Given the description of an element on the screen output the (x, y) to click on. 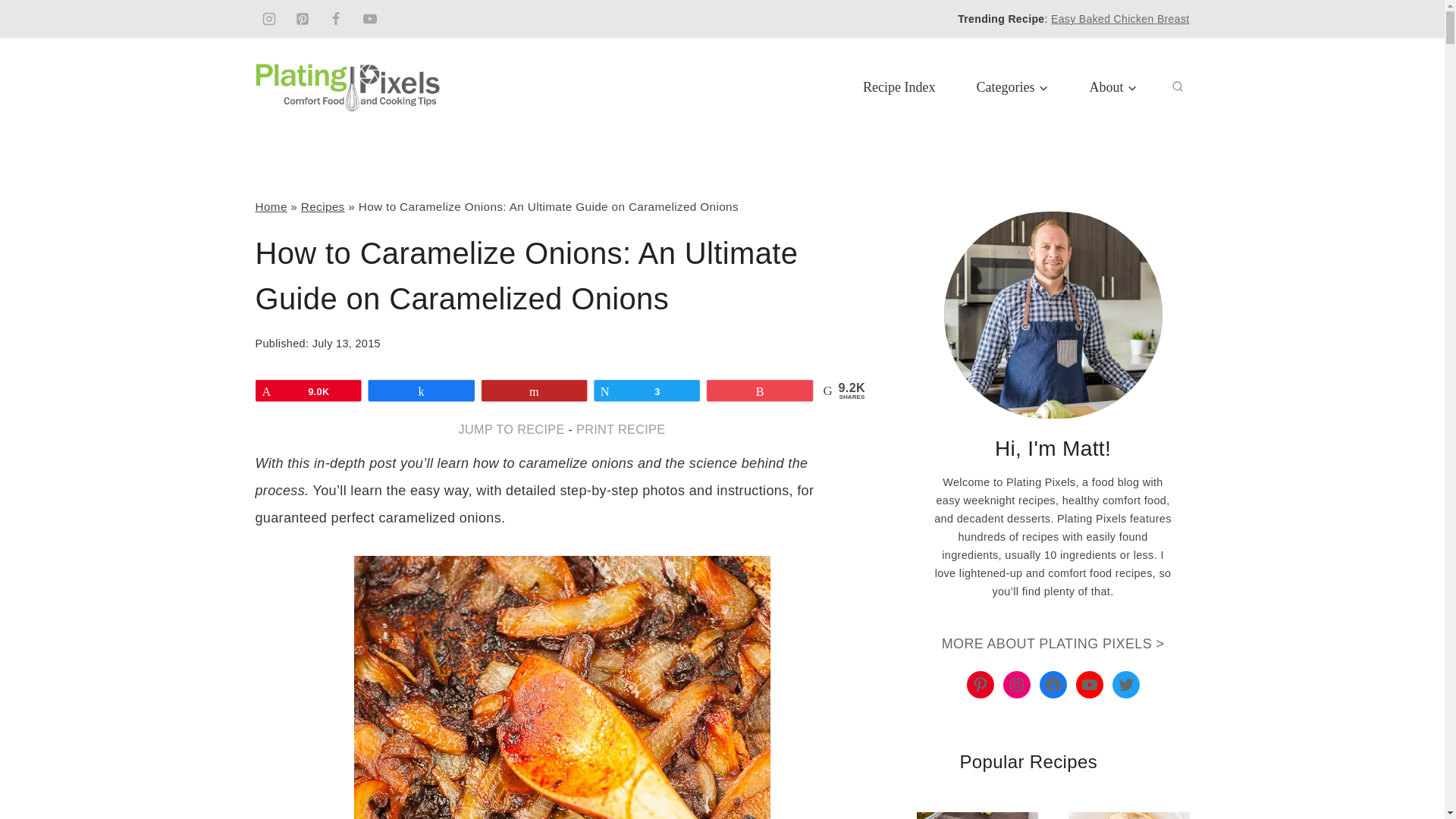
Categories (1012, 86)
Easy Baked Chicken Breast (1120, 19)
9.0K (313, 391)
Recipe Index (899, 86)
About (1112, 86)
Recipes (323, 205)
Home (270, 205)
